Given the description of an element on the screen output the (x, y) to click on. 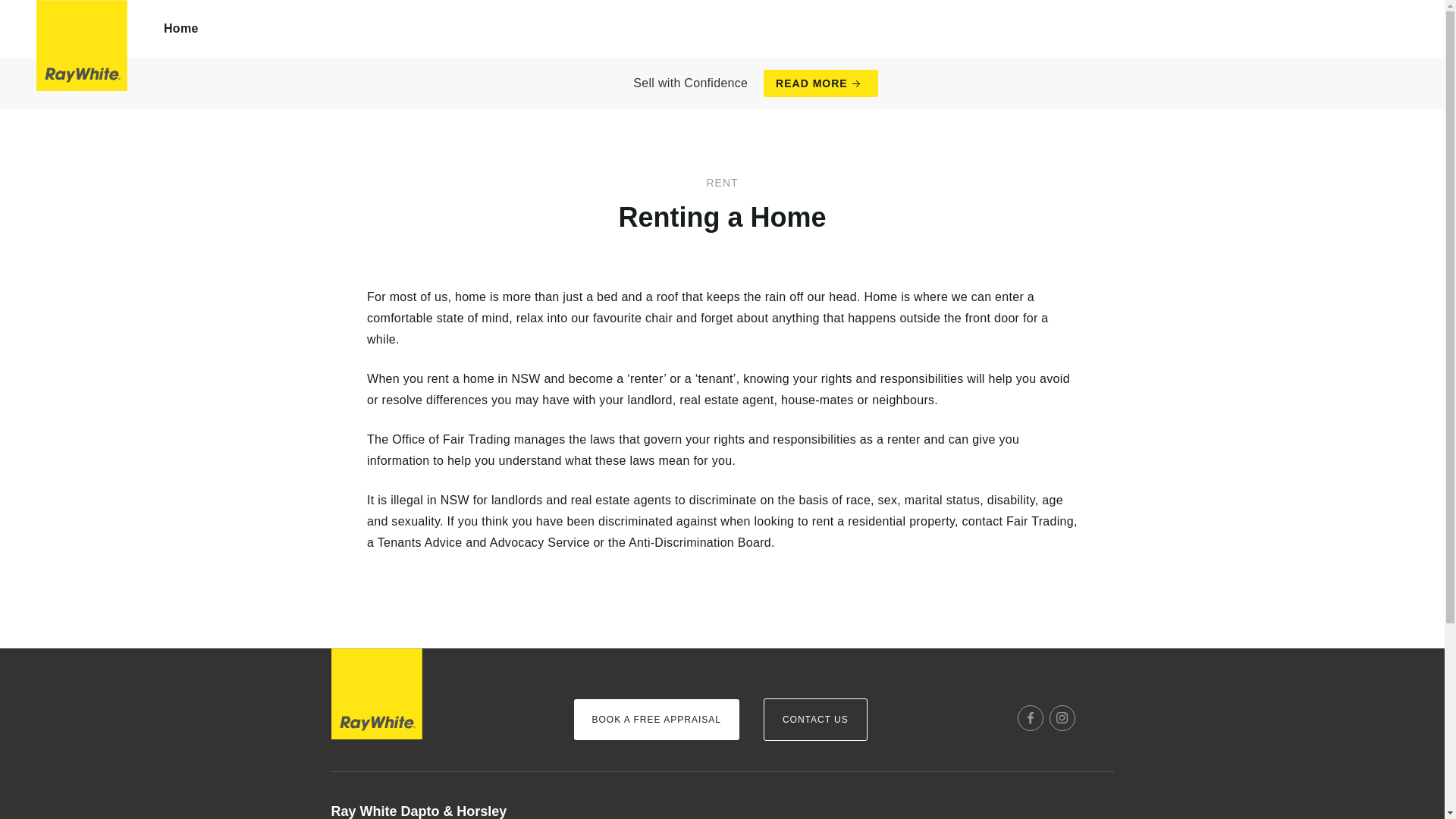
Facebook (1030, 718)
Home (180, 28)
READ MORE (819, 83)
CONTACT US (814, 719)
BOOK A FREE APPRAISAL (655, 719)
Ray White (376, 693)
Instagram (1062, 718)
